Given the description of an element on the screen output the (x, y) to click on. 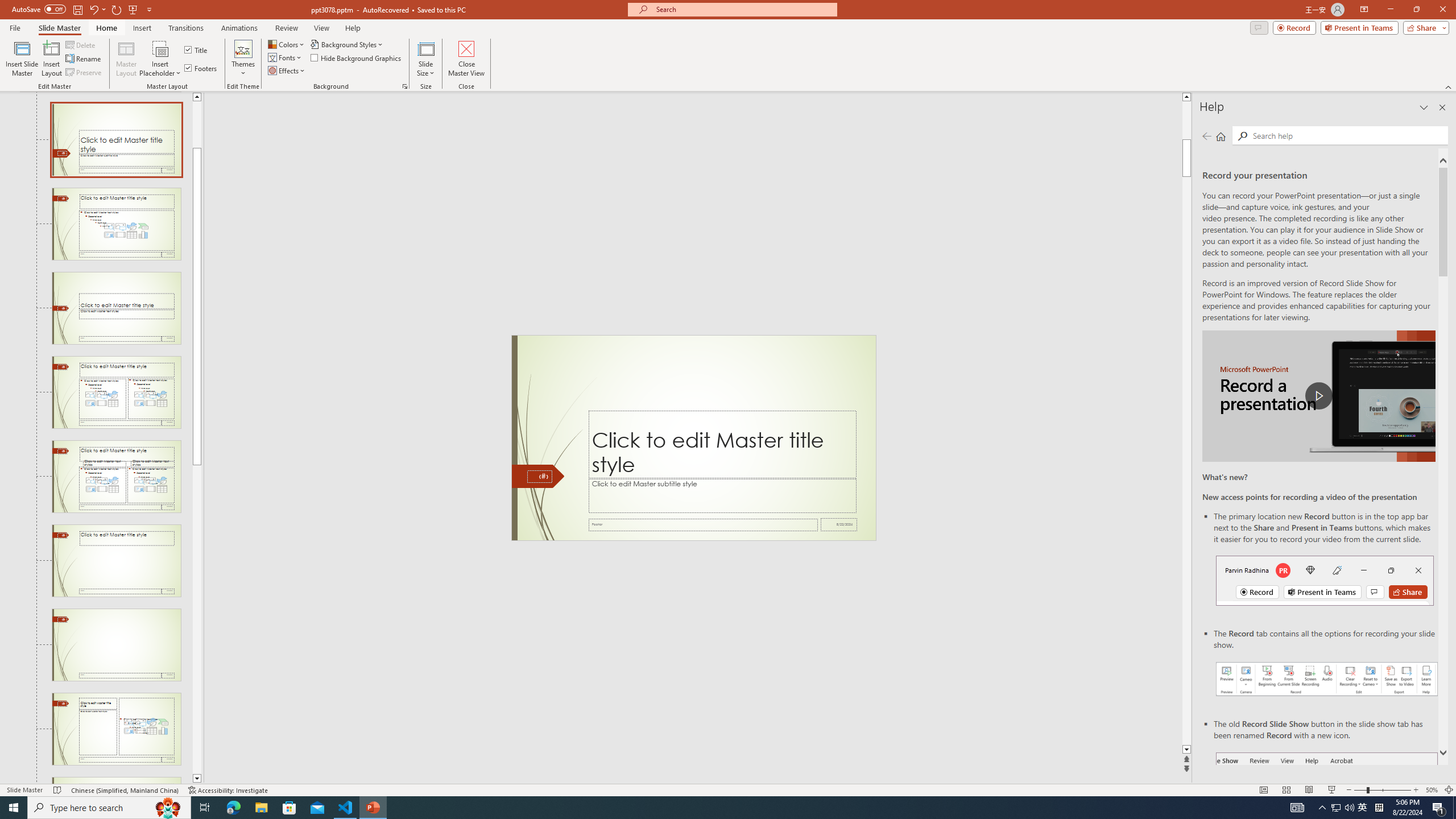
Themes (243, 58)
Background Styles (347, 44)
Insert Placeholder (160, 58)
Zoom 50% (1431, 790)
Hide Background Graphics (356, 56)
Slide Content with Caption Layout: used by no slides (116, 728)
Slide Section Header Layout: used by no slides (116, 307)
